Given the description of an element on the screen output the (x, y) to click on. 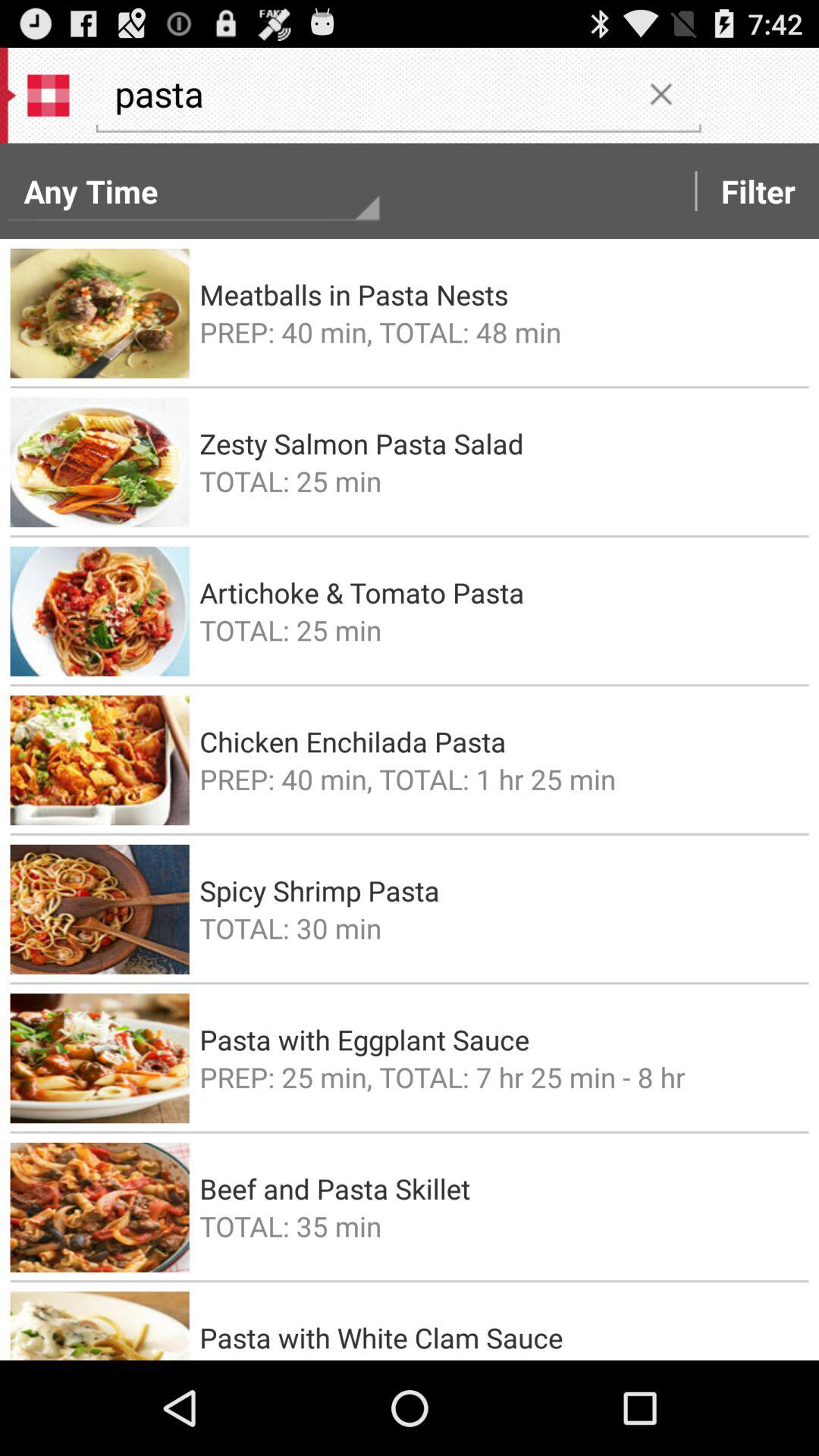
launch artichoke & tomato pasta app (498, 592)
